Given the description of an element on the screen output the (x, y) to click on. 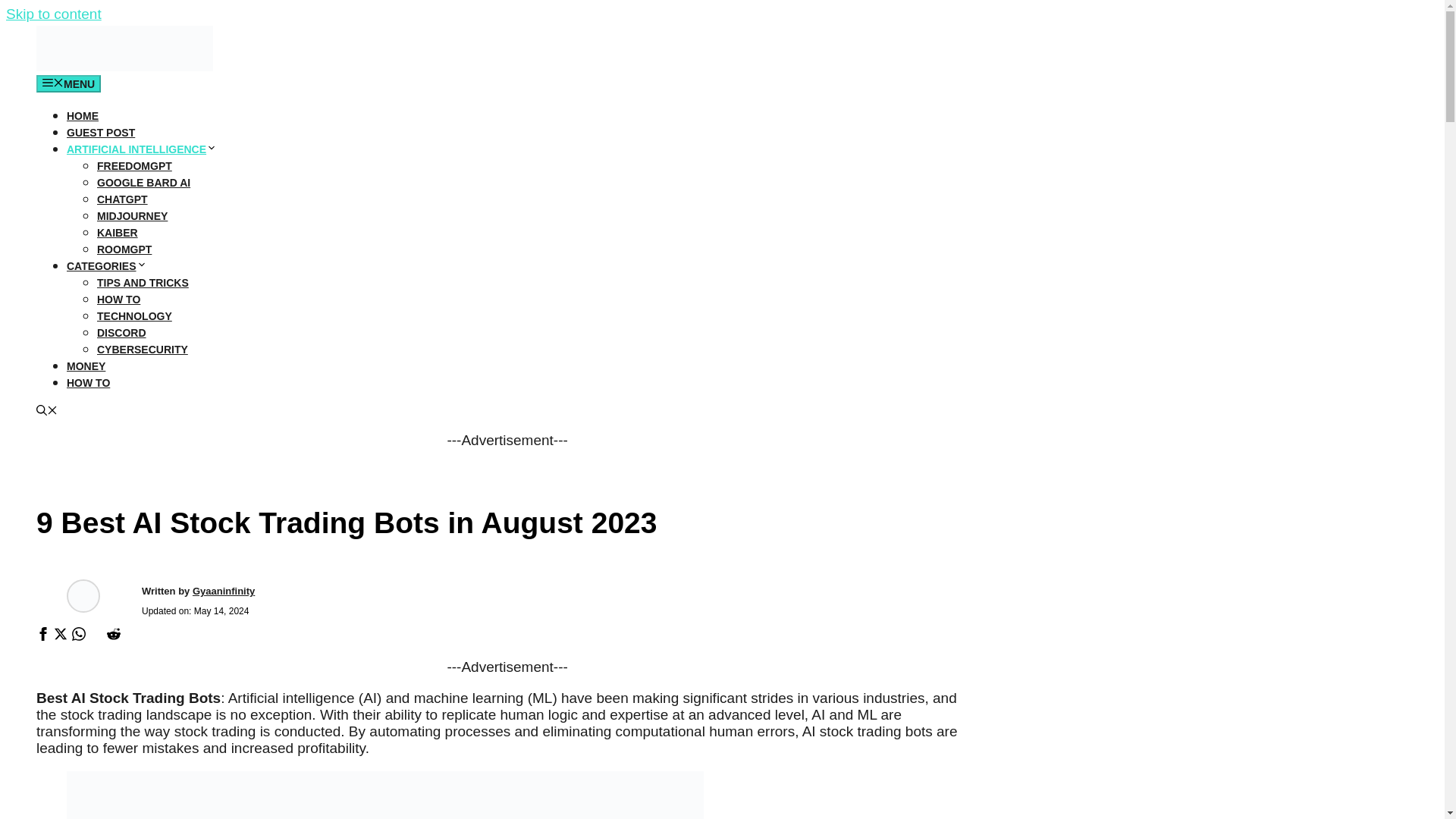
Gyaan infinity (124, 67)
Skip to content (53, 13)
GOOGLE BARD AI (143, 182)
KAIBER (117, 232)
MONEY (85, 366)
MIDJOURNEY (132, 215)
HOW TO (88, 382)
MENU (68, 83)
Skip to content (53, 13)
Gyaaninfinity (223, 591)
TECHNOLOGY (134, 316)
CATEGORIES (106, 265)
Gyaan infinity (124, 48)
HOME (82, 115)
DISCORD (122, 332)
